Given the description of an element on the screen output the (x, y) to click on. 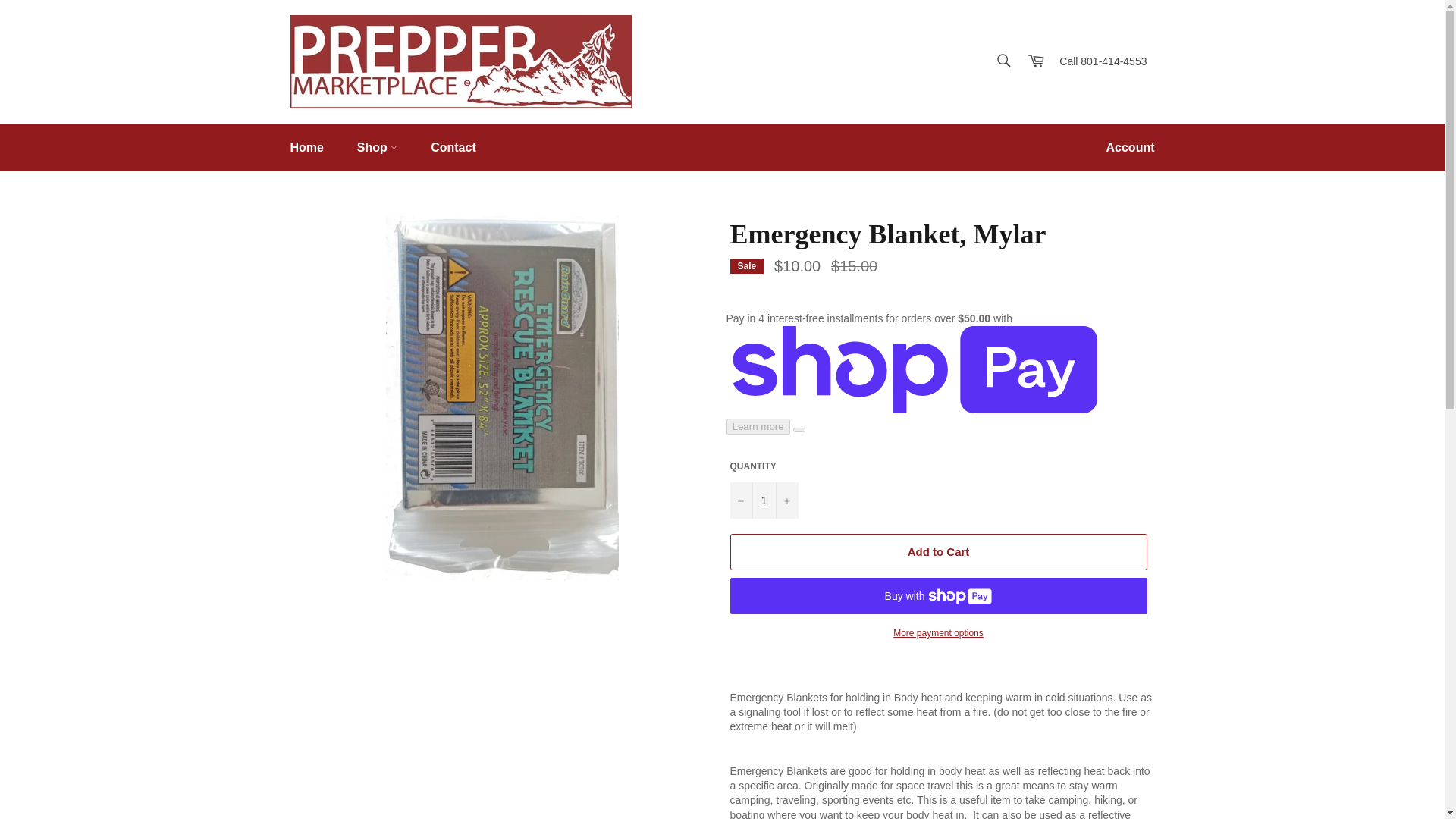
Shop (377, 147)
Home (306, 147)
Call 801-414-4553 (1102, 63)
1 (763, 500)
Cart (1035, 61)
Search (1002, 60)
